Given the description of an element on the screen output the (x, y) to click on. 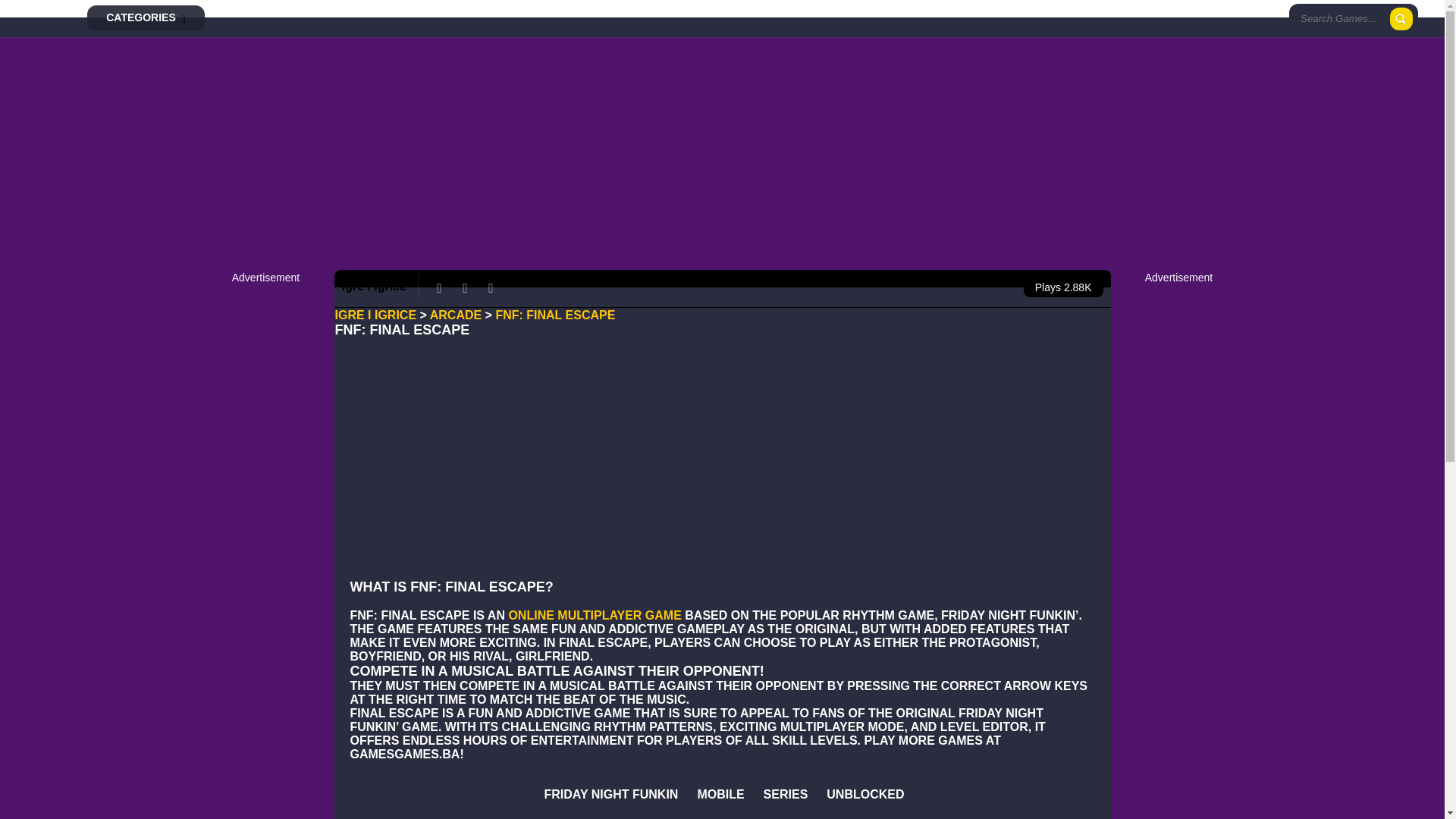
Igre i Igrice (47, 6)
Go to the Arcade Category archives. (455, 314)
Go to Igre i Igrice. (375, 314)
Play in fullscreen (490, 287)
Go to FNF: Final Escape. (554, 314)
CATEGORIES (145, 17)
